Given the description of an element on the screen output the (x, y) to click on. 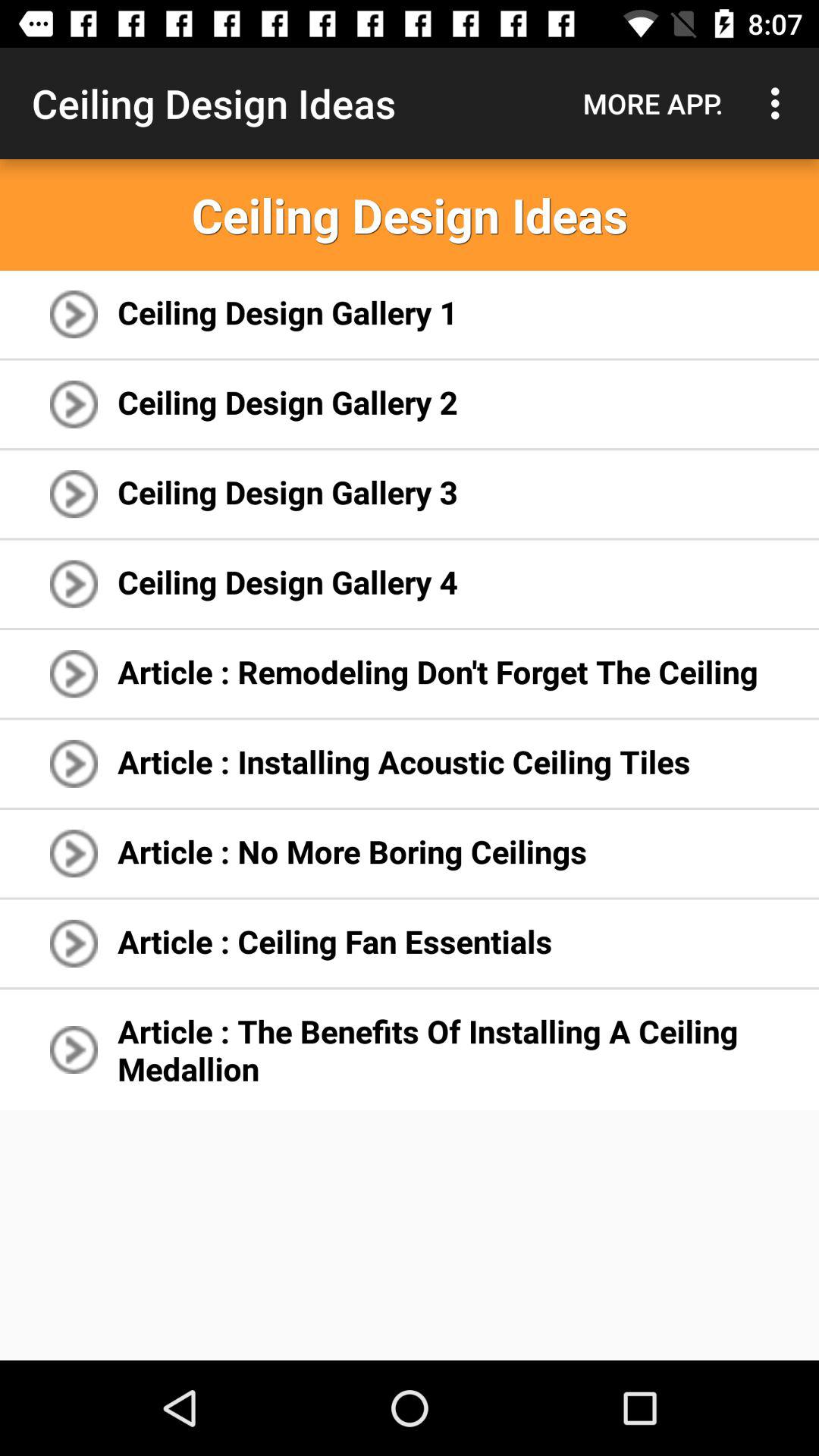
scroll to more app. (653, 103)
